Given the description of an element on the screen output the (x, y) to click on. 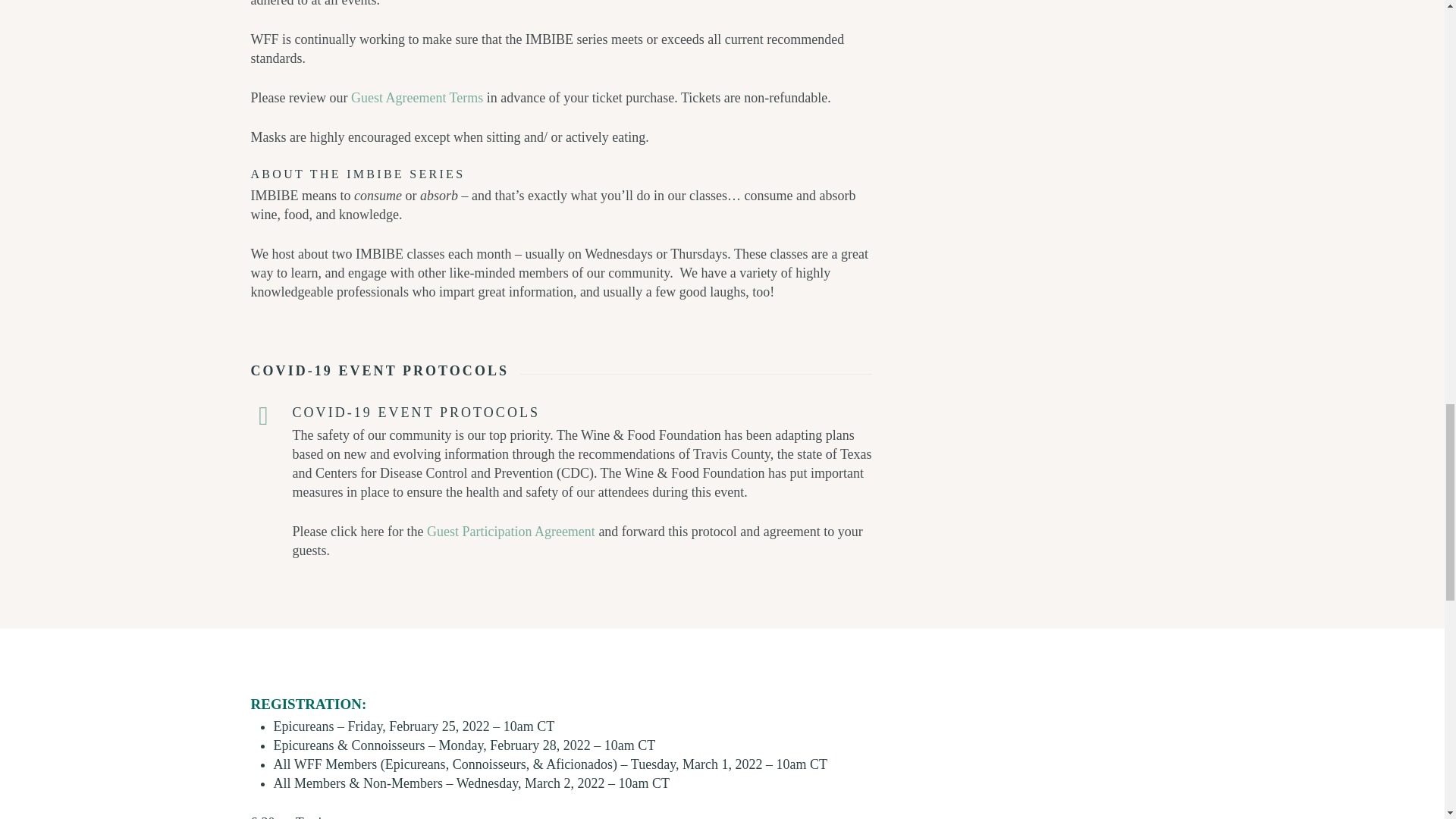
Guest Participation Agreement (510, 531)
Guest Agreement Terms (416, 97)
